Given the description of an element on the screen output the (x, y) to click on. 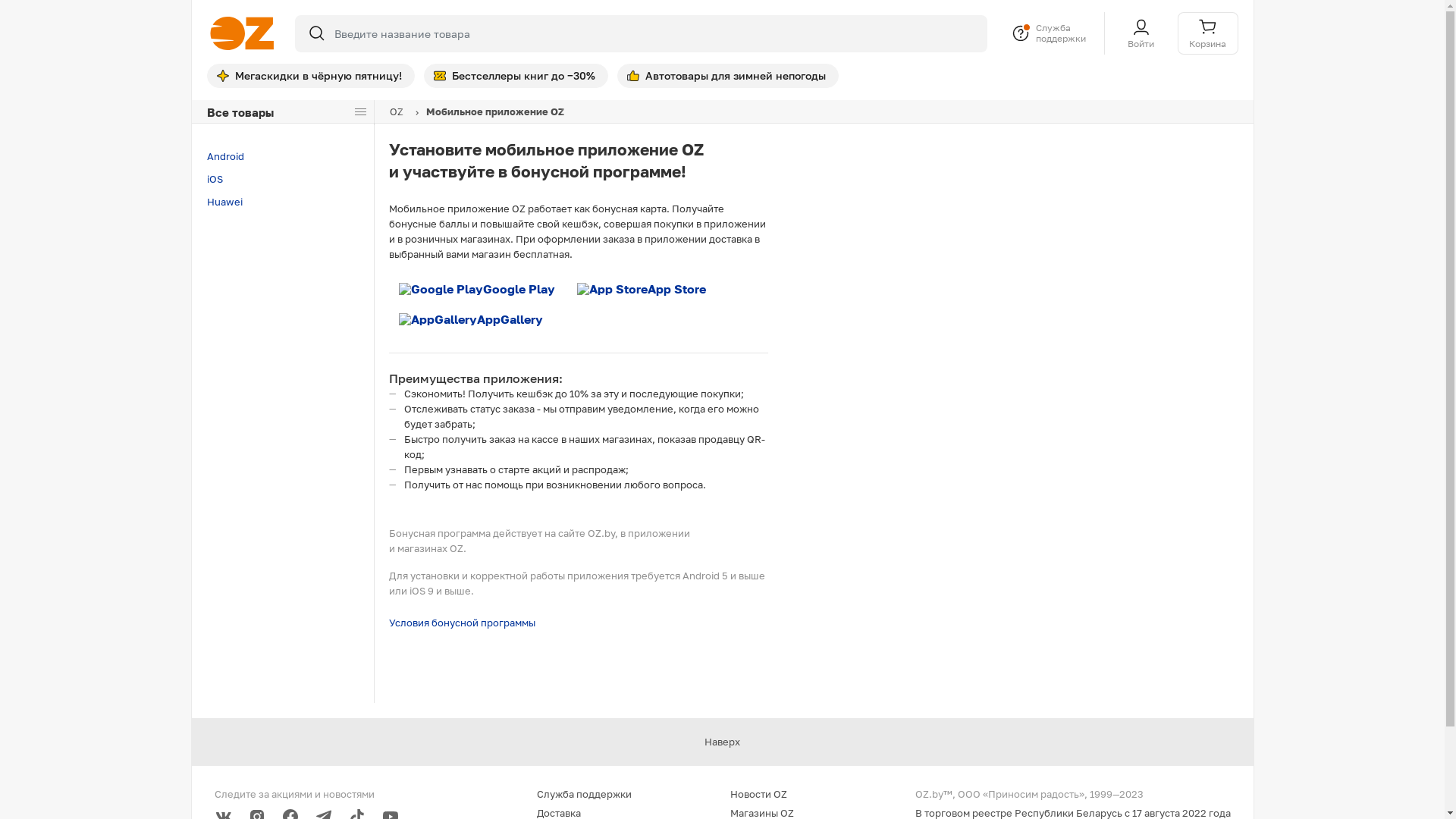
App Store Element type: text (641, 288)
pp Element type: text (721, 297)
login Element type: text (721, 174)
Android Element type: text (282, 156)
Google Play Element type: text (476, 288)
iOS Element type: text (282, 179)
OZ Element type: text (396, 111)
AppGallery Element type: text (470, 319)
Huawei Element type: text (282, 202)
